Given the description of an element on the screen output the (x, y) to click on. 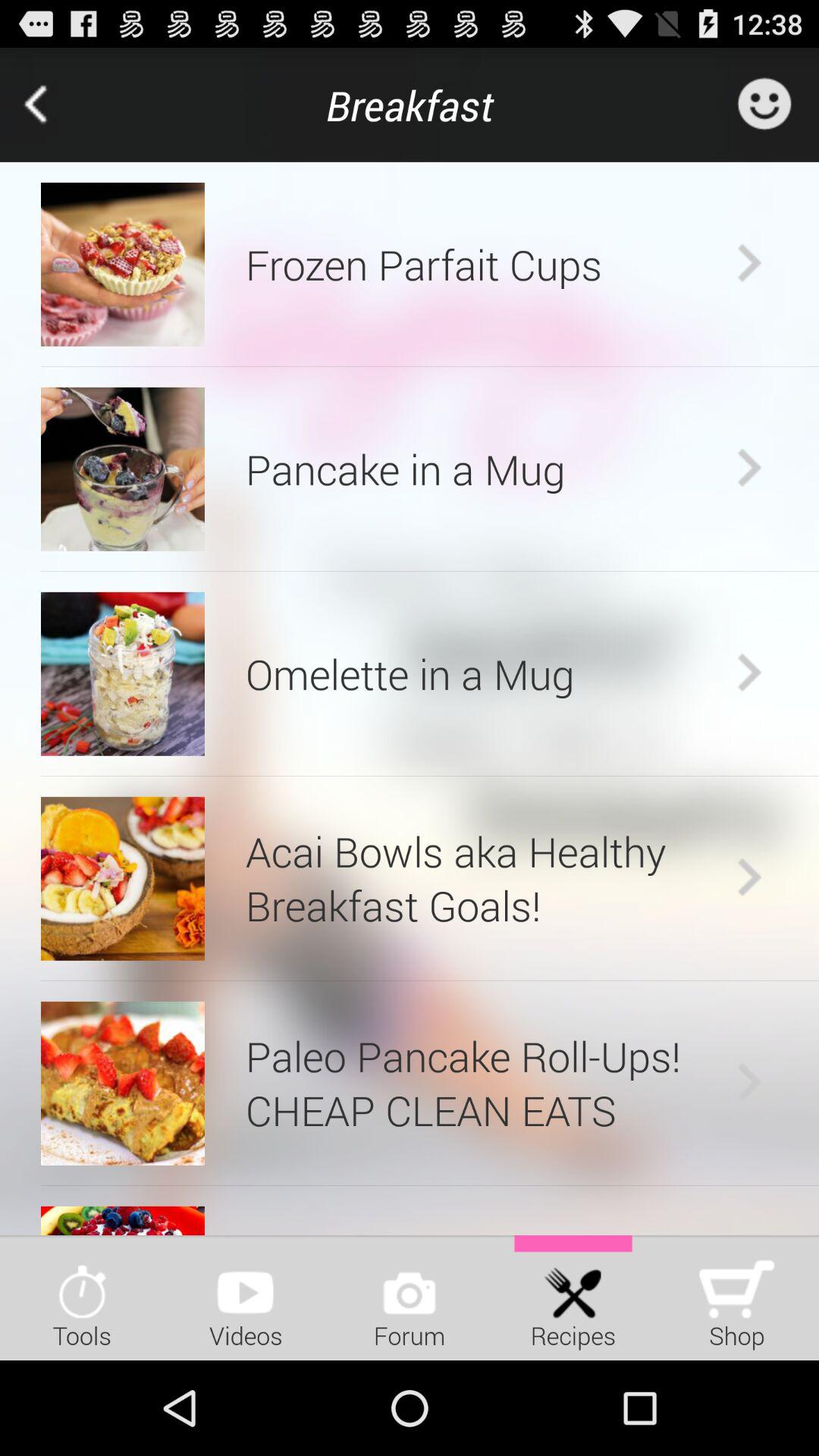
tap the app to the right of breakfast (763, 104)
